Given the description of an element on the screen output the (x, y) to click on. 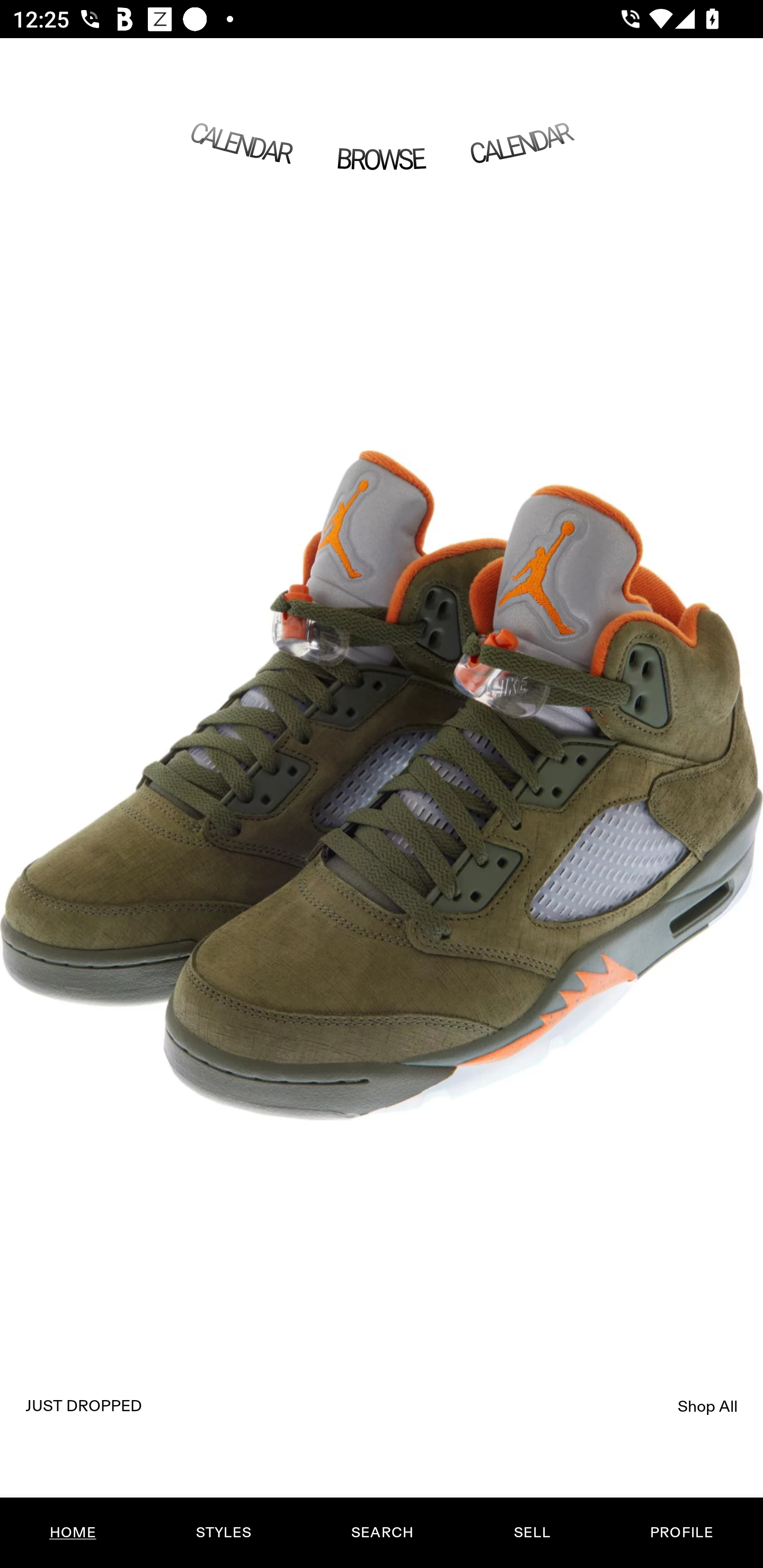
Shop All (707, 1406)
HOME (72, 1532)
STYLES (222, 1532)
SEARCH (381, 1532)
SELL (531, 1532)
PROFILE (681, 1532)
